Given the description of an element on the screen output the (x, y) to click on. 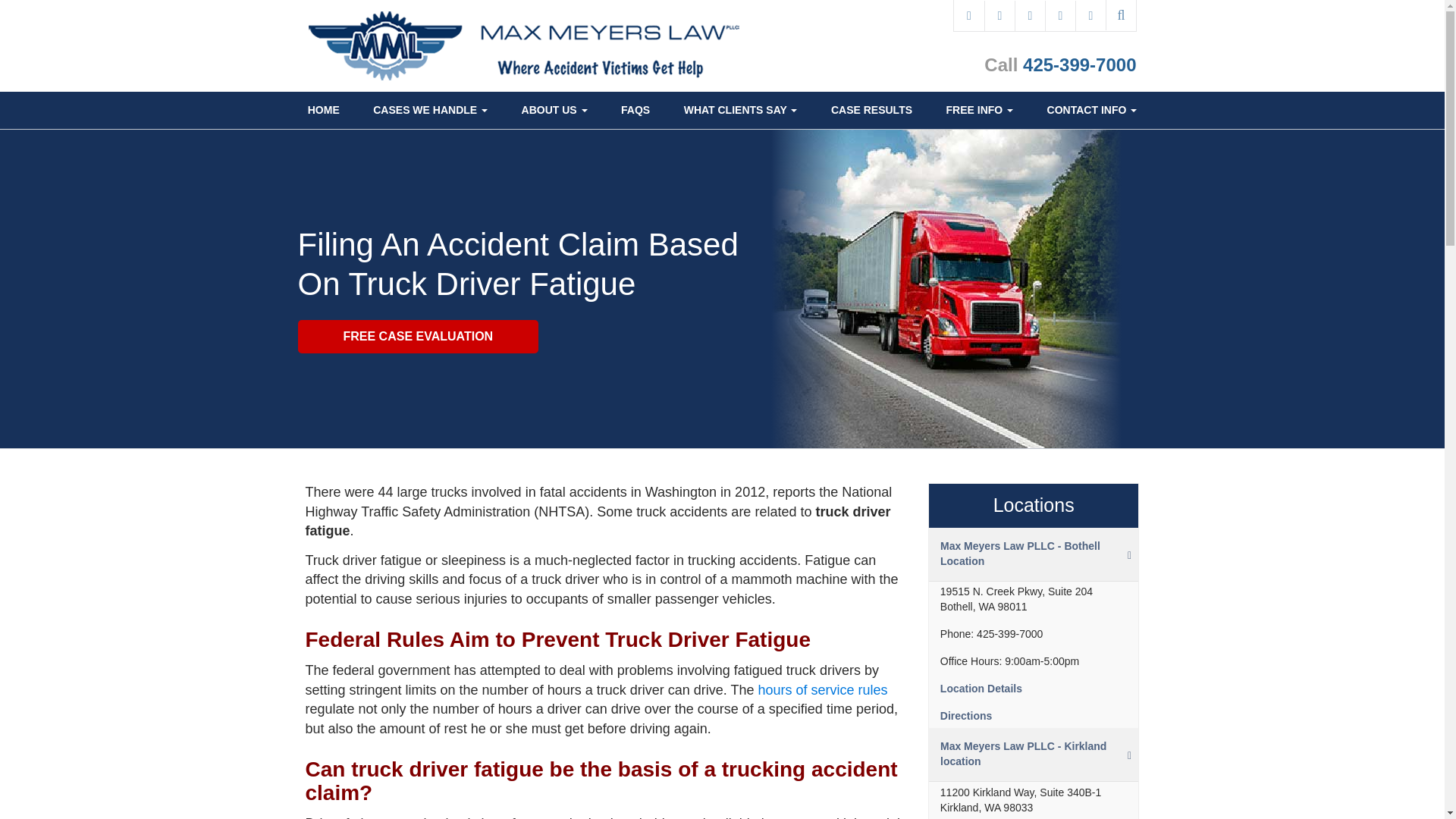
FREE INFO (978, 109)
CASES WE HANDLE (429, 109)
ABOUT US (553, 109)
CASE RESULTS (871, 109)
FAQS (635, 109)
Search (1120, 15)
Frequently Asked Questions (635, 109)
WHAT CLIENTS SAY (739, 109)
HOME (323, 109)
